Given the description of an element on the screen output the (x, y) to click on. 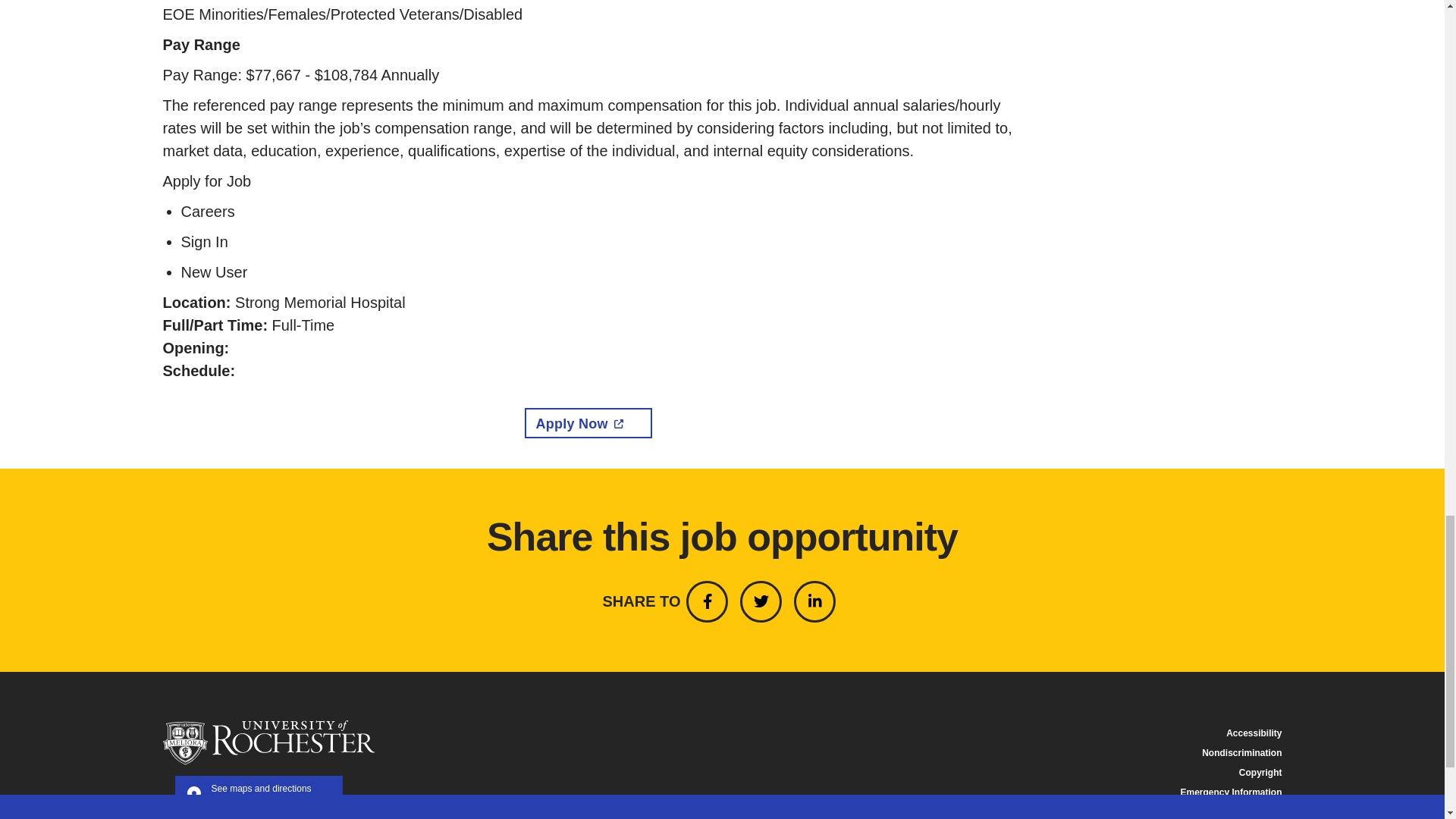
Accessibility (1253, 733)
Apply Now (588, 422)
Copyright (1260, 772)
Nondiscrimination (1241, 752)
Emergency Information (258, 794)
